Given the description of an element on the screen output the (x, y) to click on. 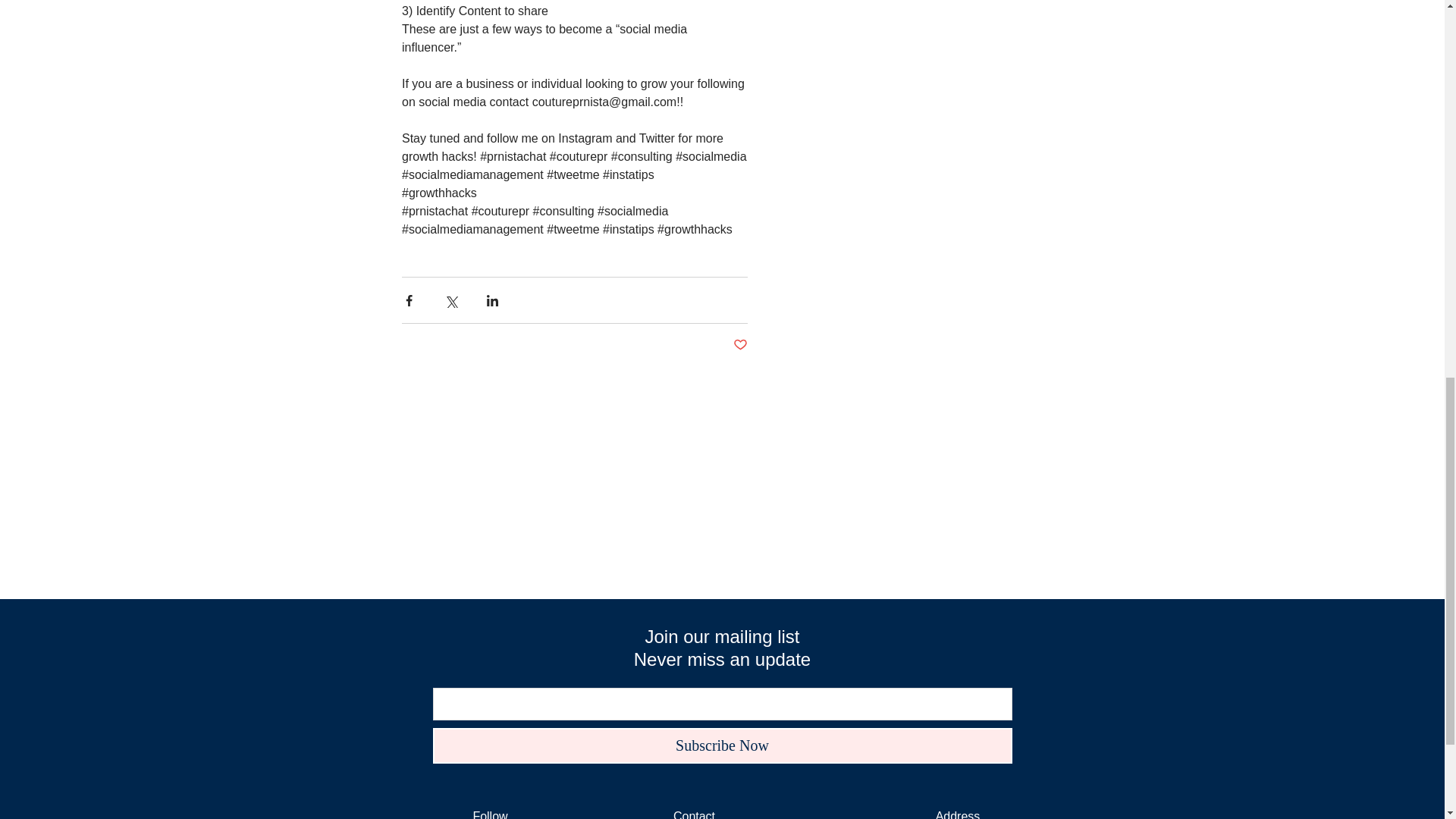
Subscribe Now (721, 745)
Post not marked as liked (739, 344)
